Given the description of an element on the screen output the (x, y) to click on. 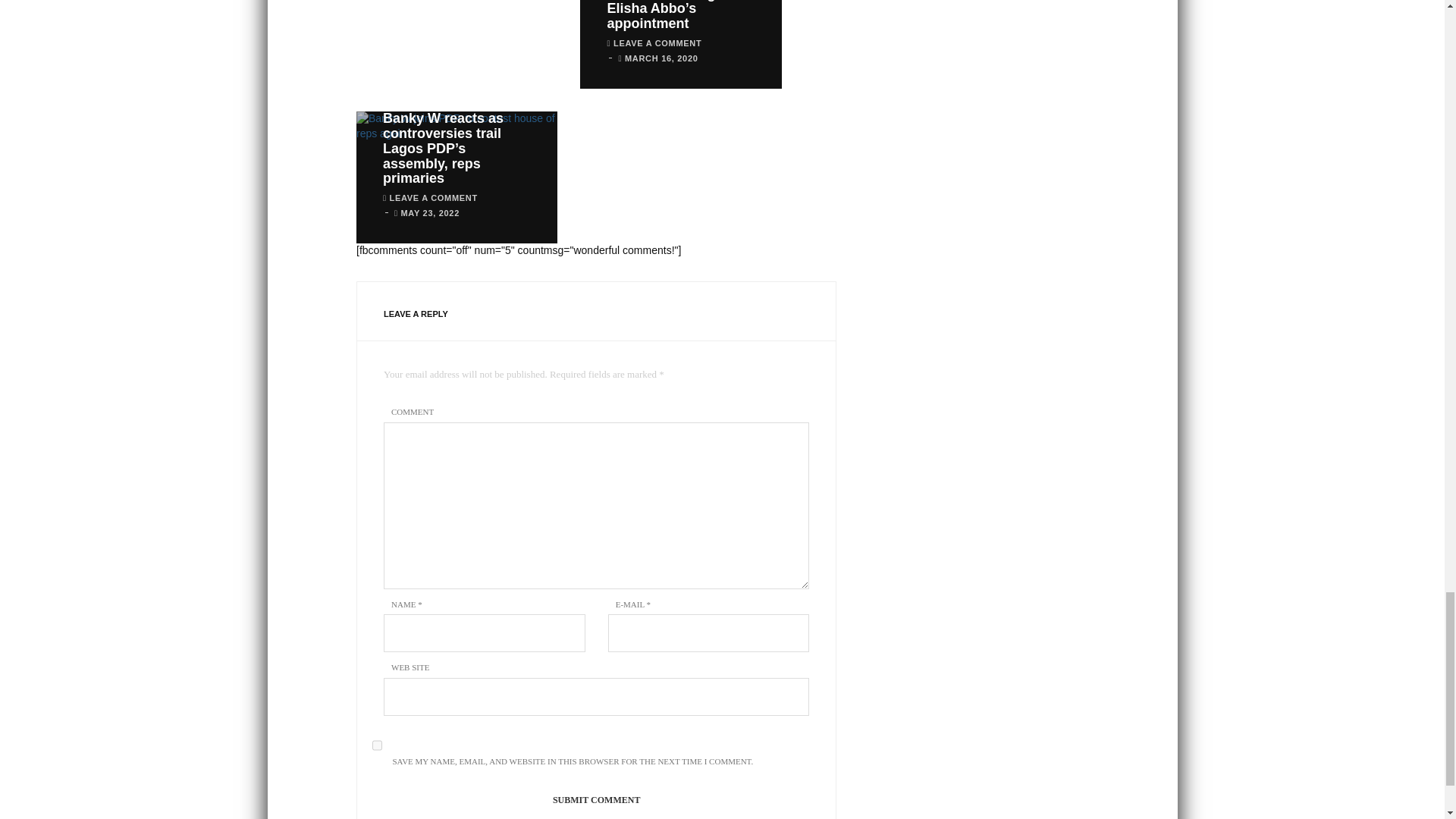
Submit Comment (596, 799)
yes (376, 745)
